Given the description of an element on the screen output the (x, y) to click on. 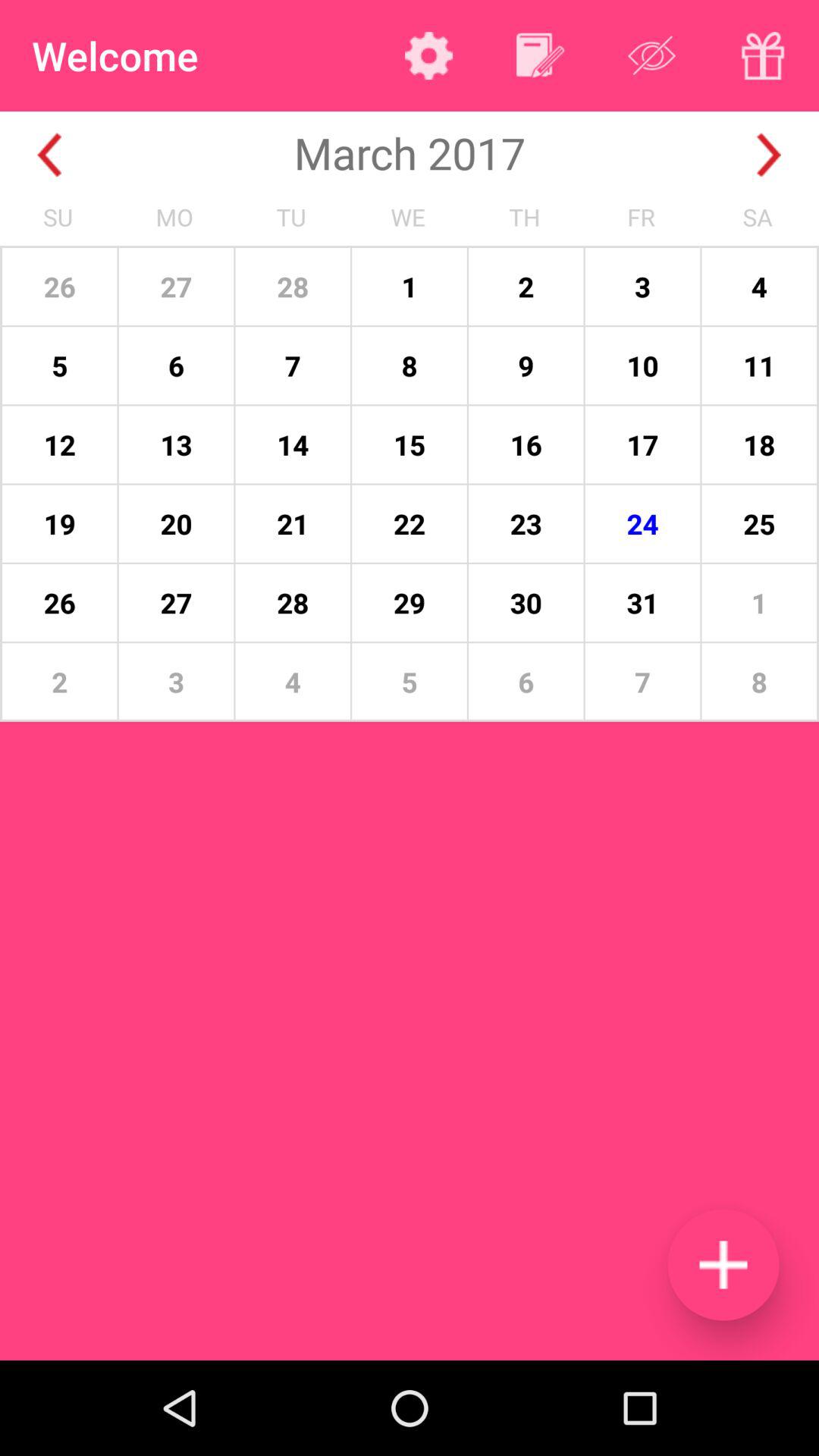
tap item below the 7 icon (723, 1264)
